Given the description of an element on the screen output the (x, y) to click on. 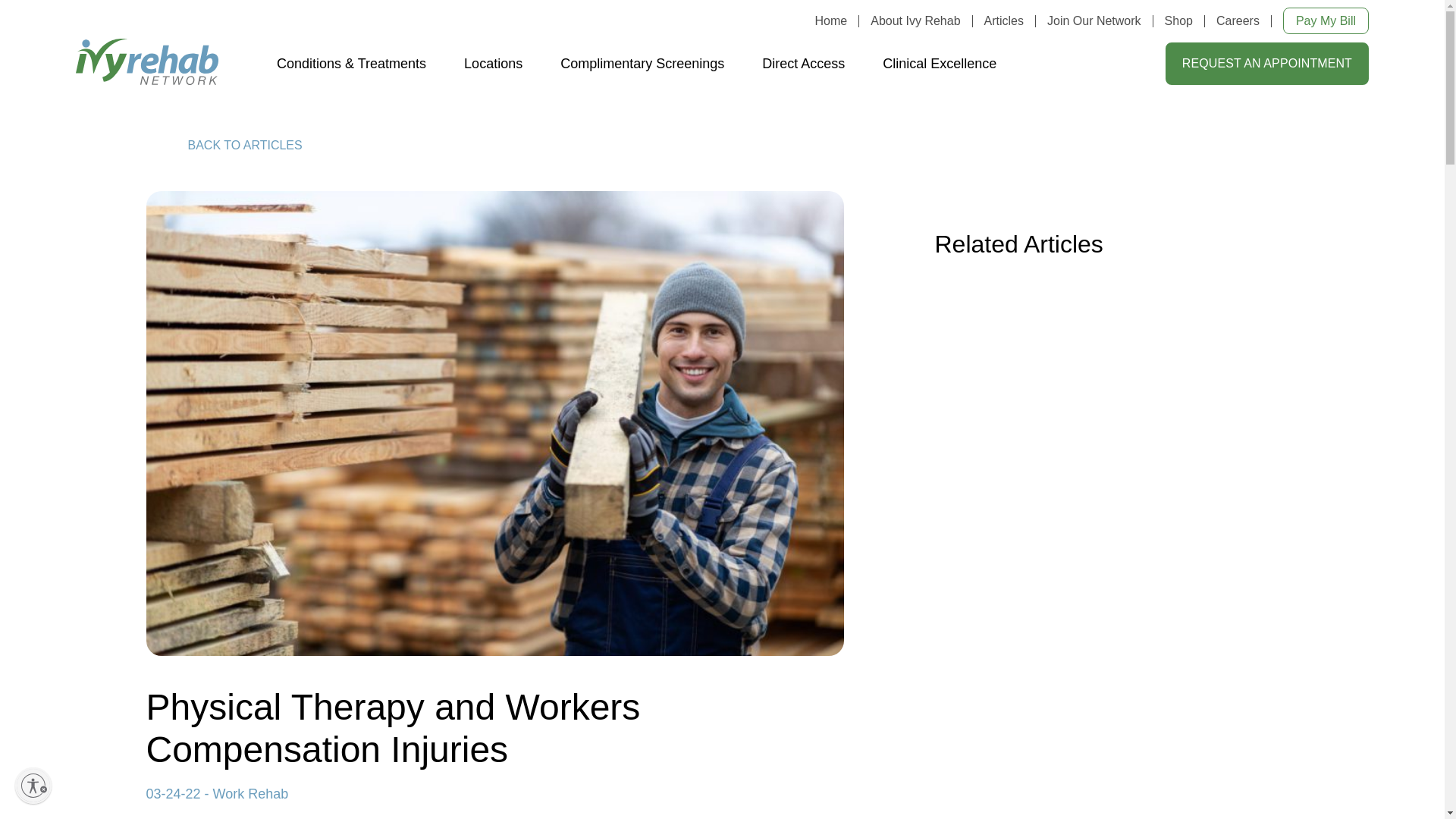
Home (831, 20)
Work Rehab (250, 793)
Pay My Bill (1325, 20)
About Ivy Rehab (914, 20)
Careers (1237, 20)
Shop (1178, 20)
Direct Access (802, 63)
Locations (493, 63)
BACK TO ARTICLES (223, 145)
Complimentary Screenings (641, 63)
